Given the description of an element on the screen output the (x, y) to click on. 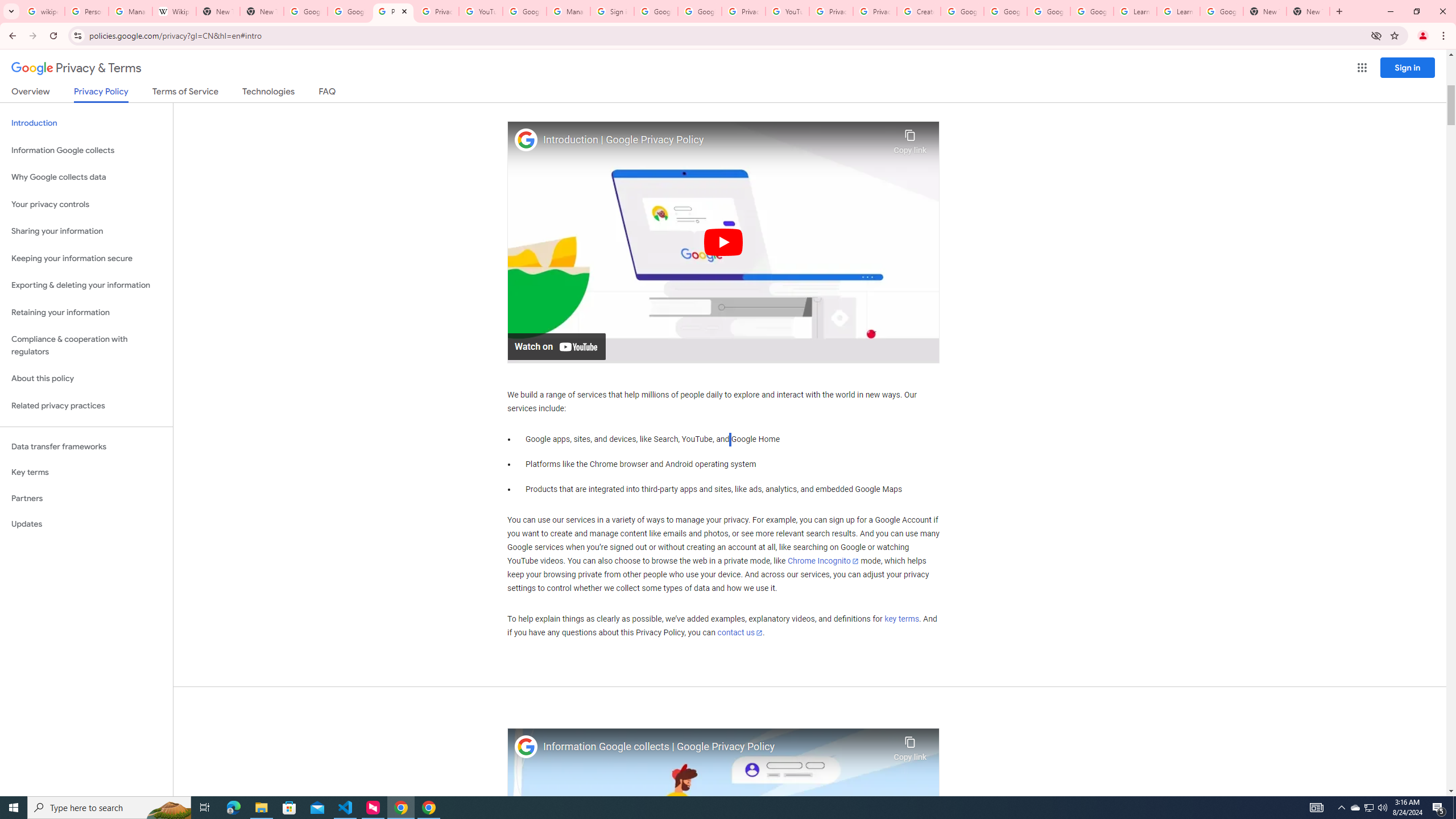
Personalization & Google Search results - Google Search Help (86, 11)
Sharing your information (86, 230)
contact us (739, 633)
Google Account Help (1005, 11)
Your privacy controls (86, 204)
Sign in - Google Accounts (612, 11)
Google Drive: Sign-in (349, 11)
Partners (86, 497)
key terms (900, 619)
